Given the description of an element on the screen output the (x, y) to click on. 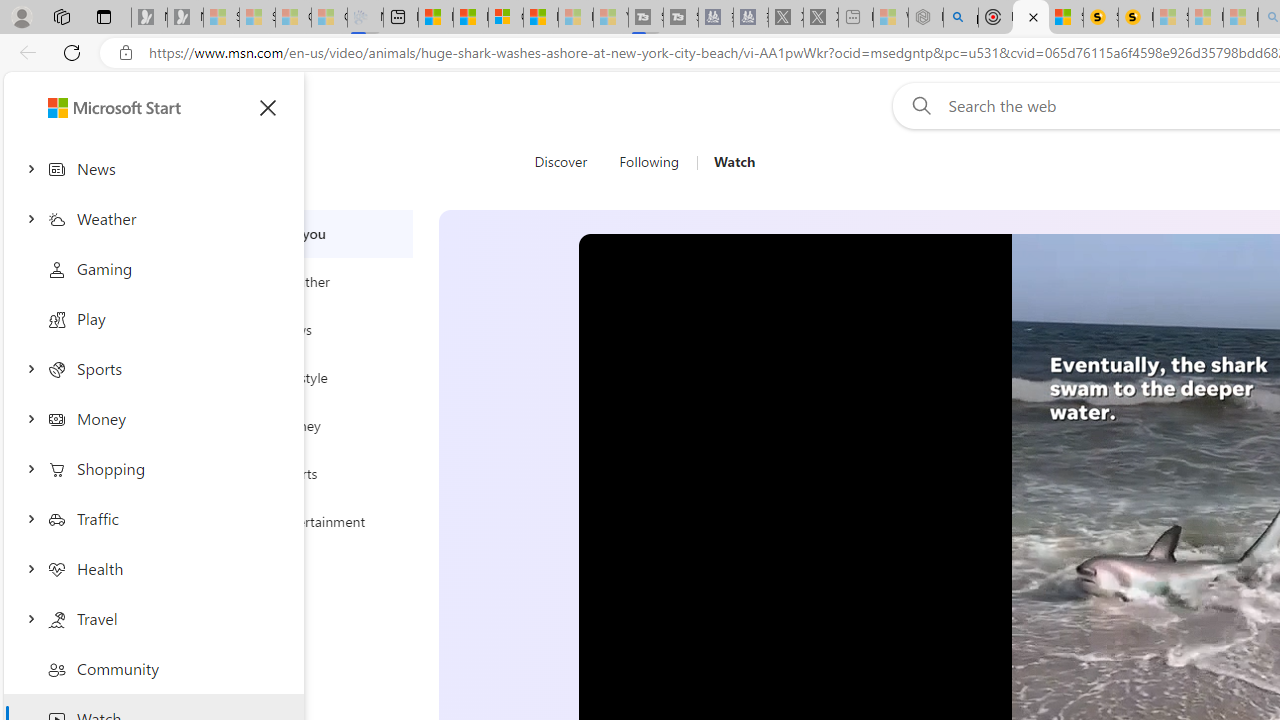
Microsoft Start - Sleeping (575, 17)
